Given the description of an element on the screen output the (x, y) to click on. 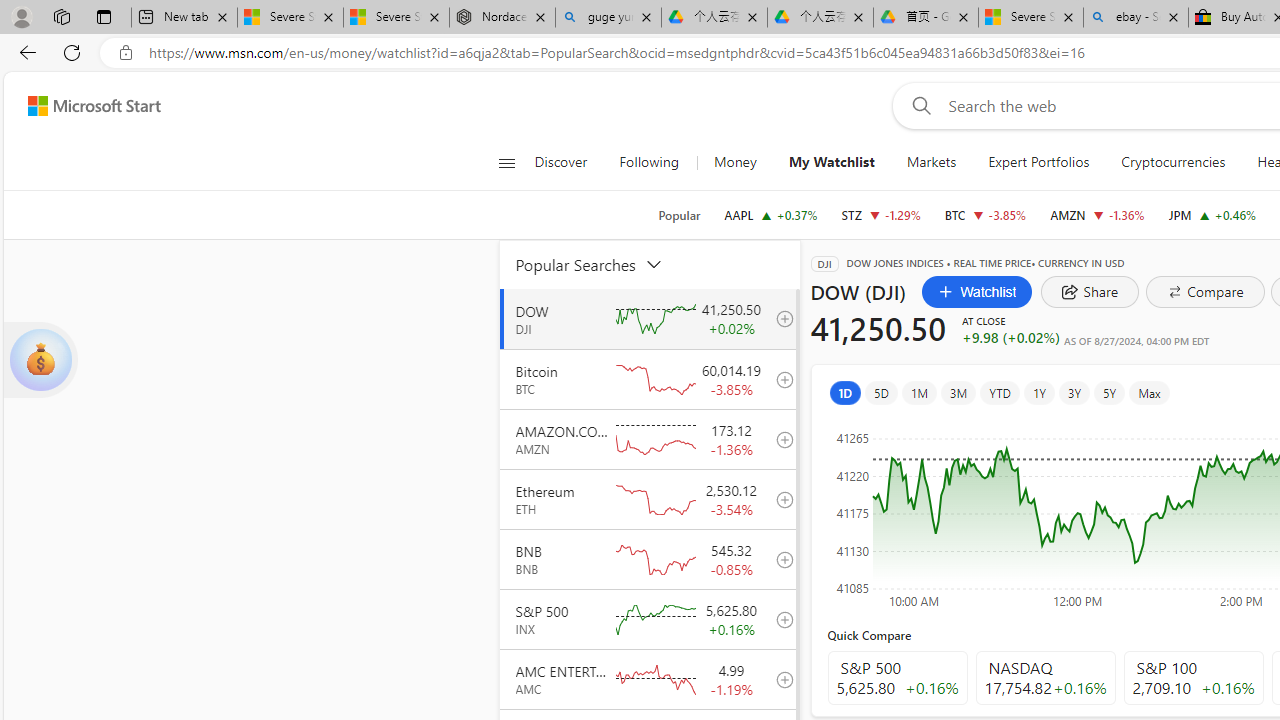
Popular (679, 215)
Markets (930, 162)
